Given the description of an element on the screen output the (x, y) to click on. 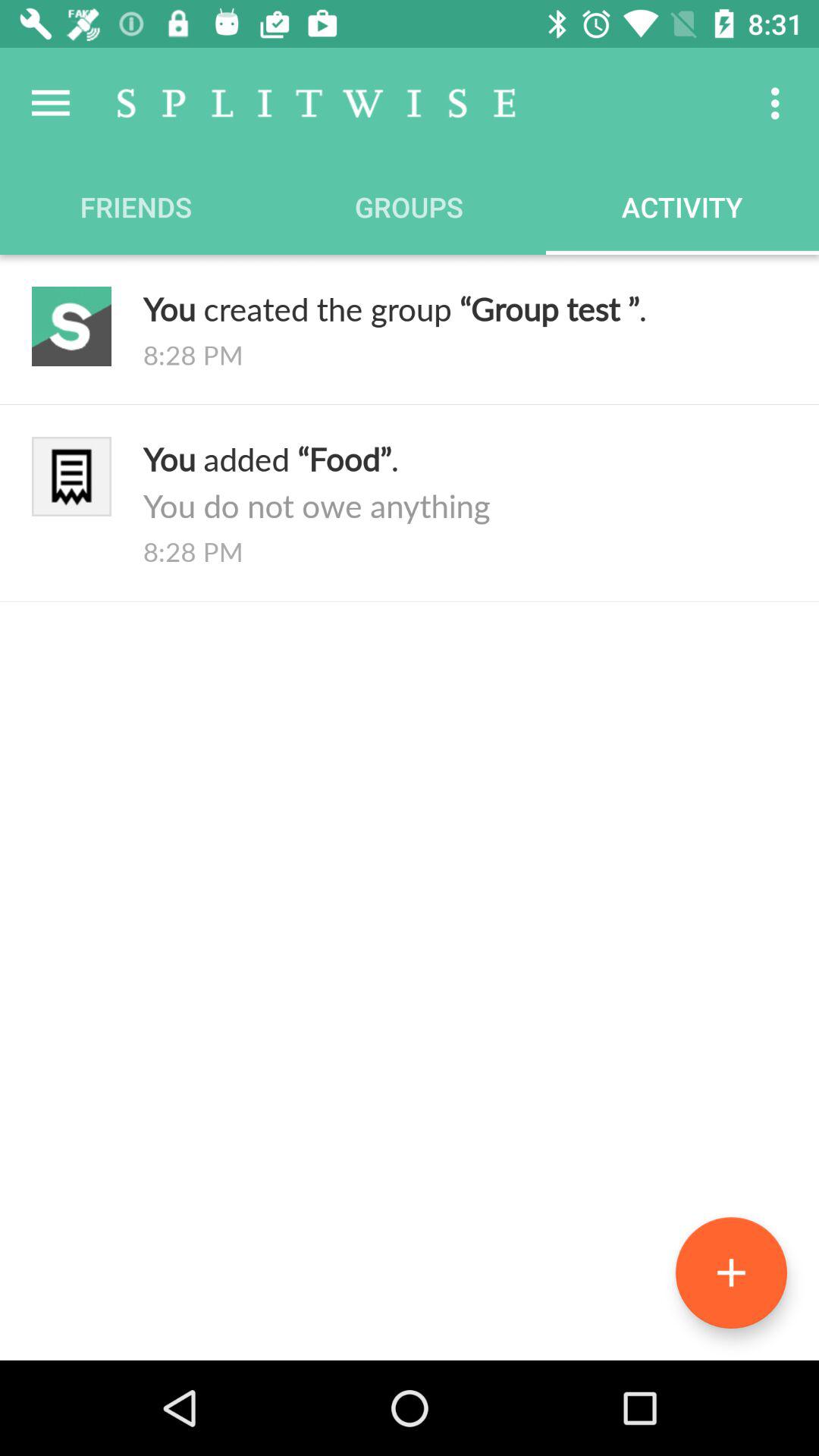
launch you created the item (465, 308)
